Given the description of an element on the screen output the (x, y) to click on. 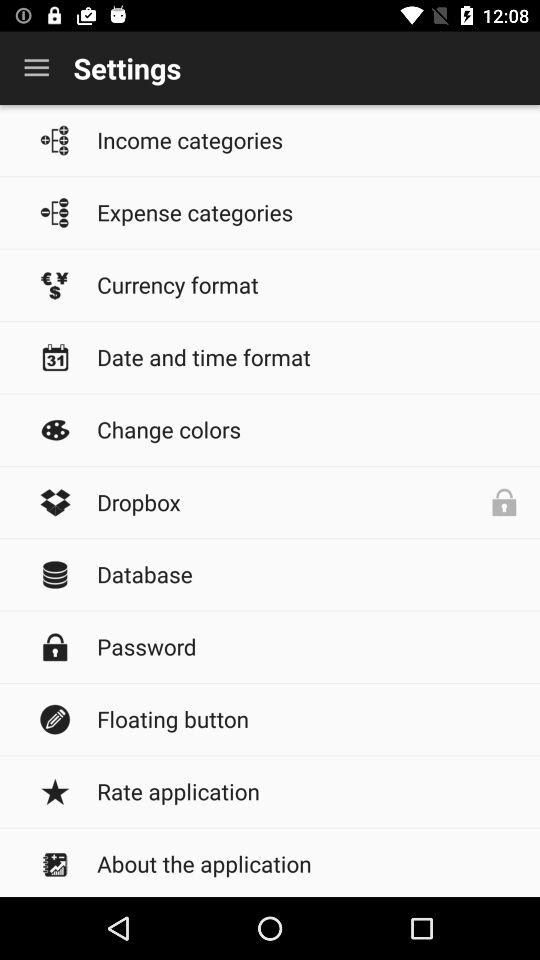
open dropbox item (308, 502)
